Given the description of an element on the screen output the (x, y) to click on. 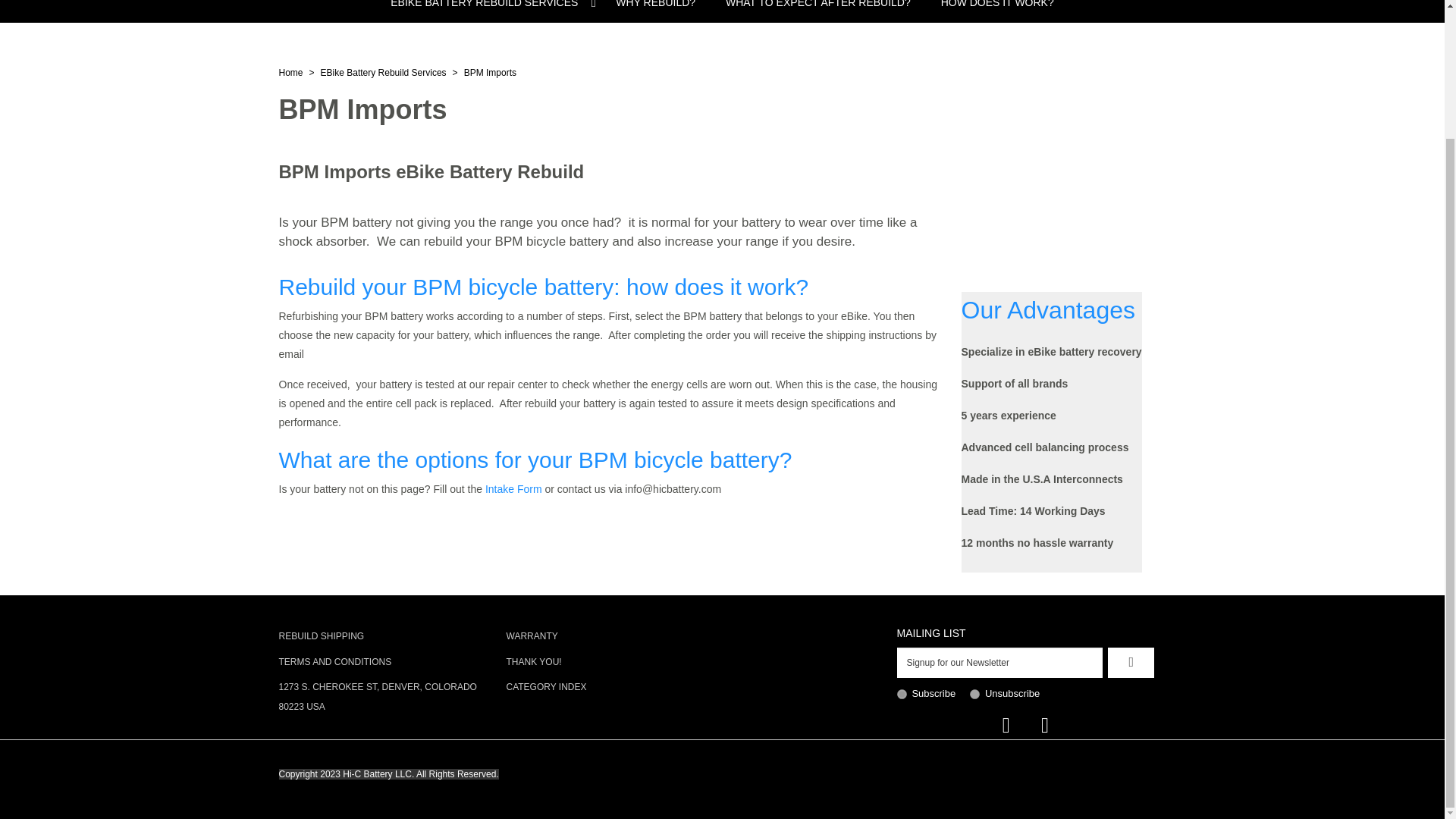
0 (974, 694)
Follow Us on Instagram (1044, 725)
EBIKE BATTERY REBUILD SERVICES (487, 11)
Like Us on Facebook (1005, 725)
1 (900, 694)
